Given the description of an element on the screen output the (x, y) to click on. 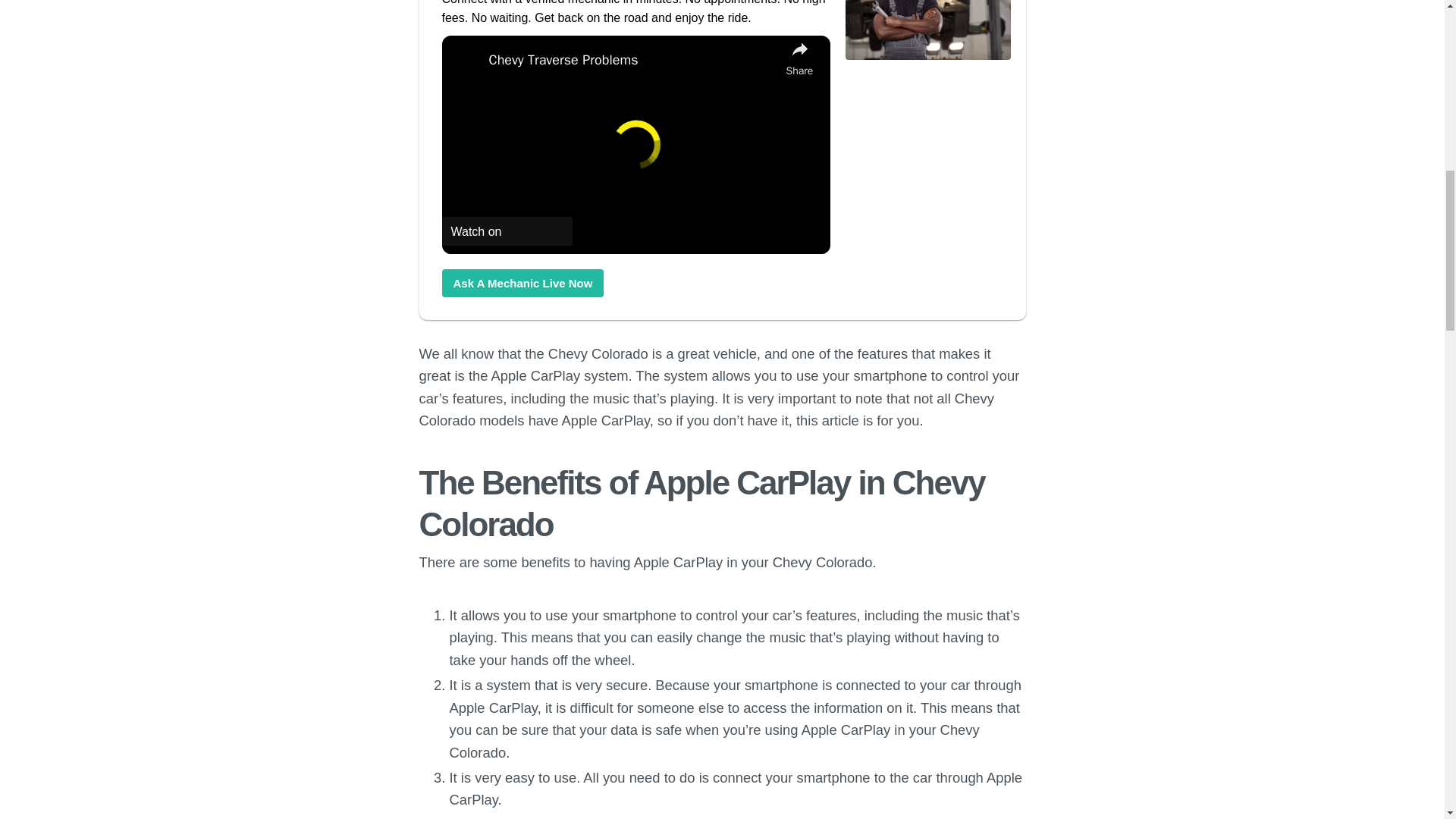
Chat With A Mechanic Online (927, 58)
Chevy Traverse Problems (632, 60)
Ask A Mechanic Live Now (522, 283)
Watch on (506, 231)
Chat With A Mechanic Online (522, 283)
